Given the description of an element on the screen output the (x, y) to click on. 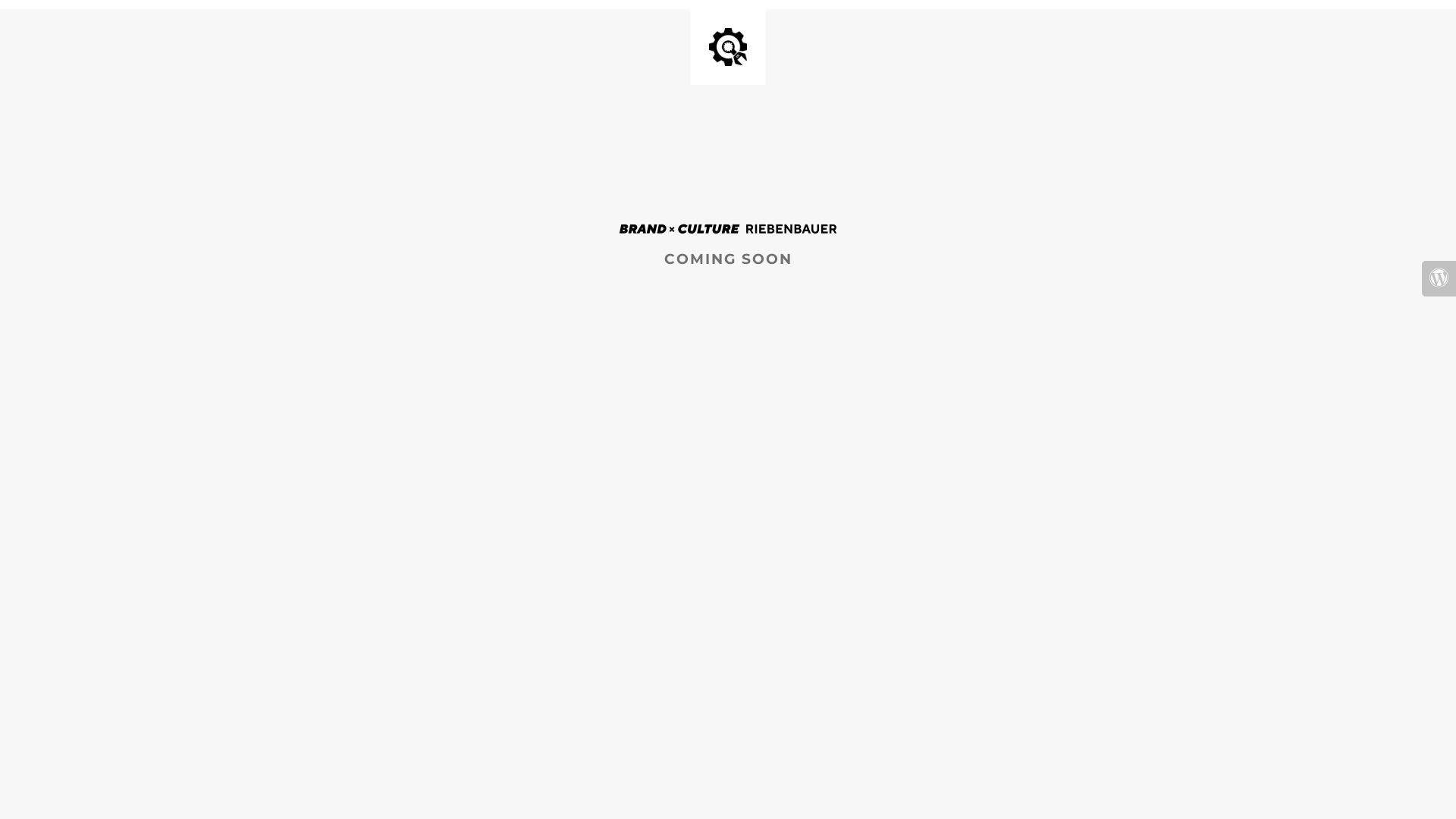
Site is Under Construction Element type: hover (727, 46)
